Given the description of an element on the screen output the (x, y) to click on. 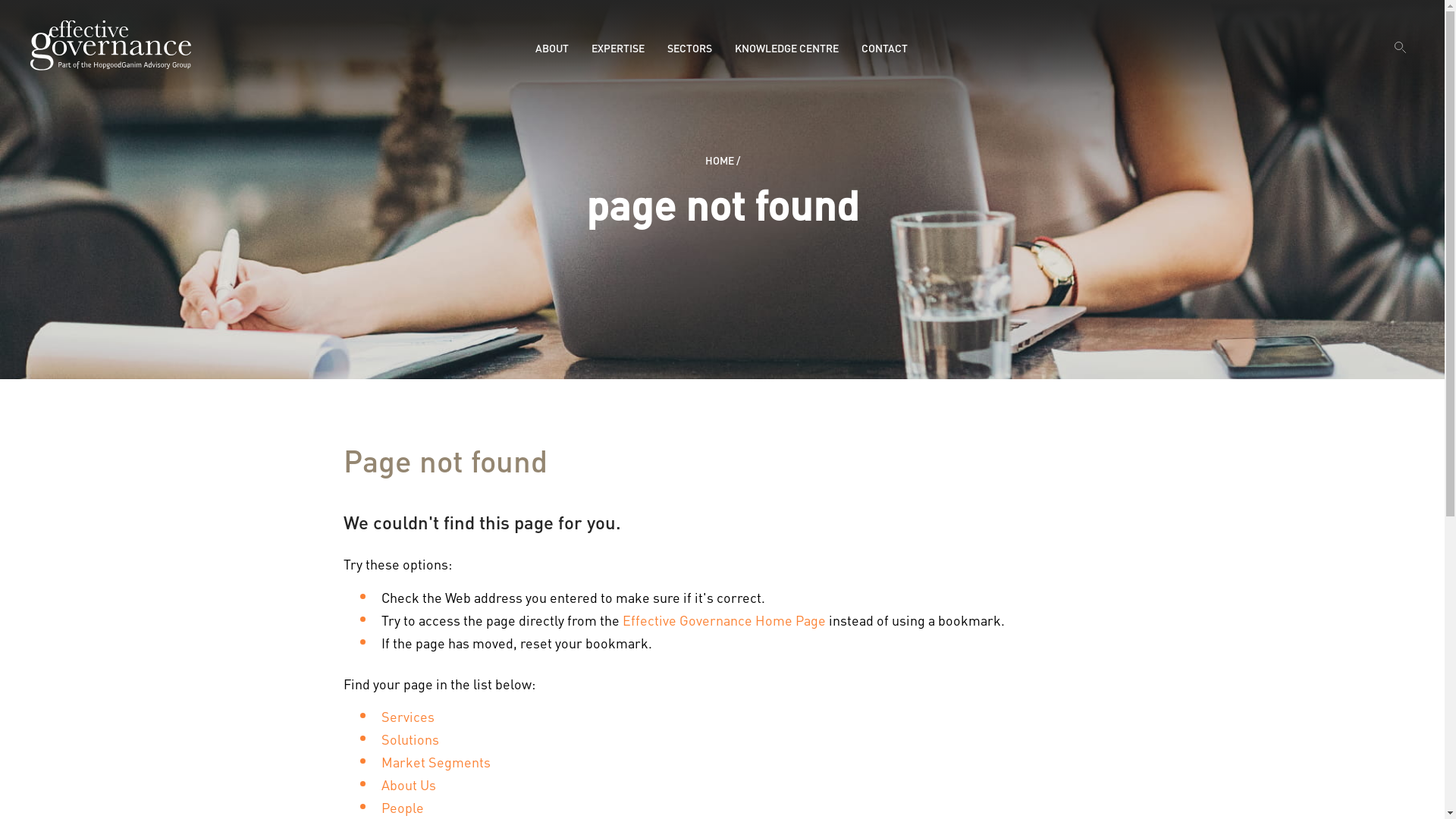
KNOWLEDGE CENTRE Element type: text (786, 47)
Solutions Element type: text (409, 738)
Services Element type: text (406, 715)
EXPERTISE Element type: text (617, 47)
CONTACT Element type: text (884, 47)
SECTORS Element type: text (689, 47)
Market Segments Element type: text (434, 761)
ABOUT Element type: text (551, 47)
HOME Element type: text (719, 159)
People Element type: text (401, 806)
About Us Element type: text (407, 784)
Effective Governance Home Page Element type: text (723, 619)
